Given the description of an element on the screen output the (x, y) to click on. 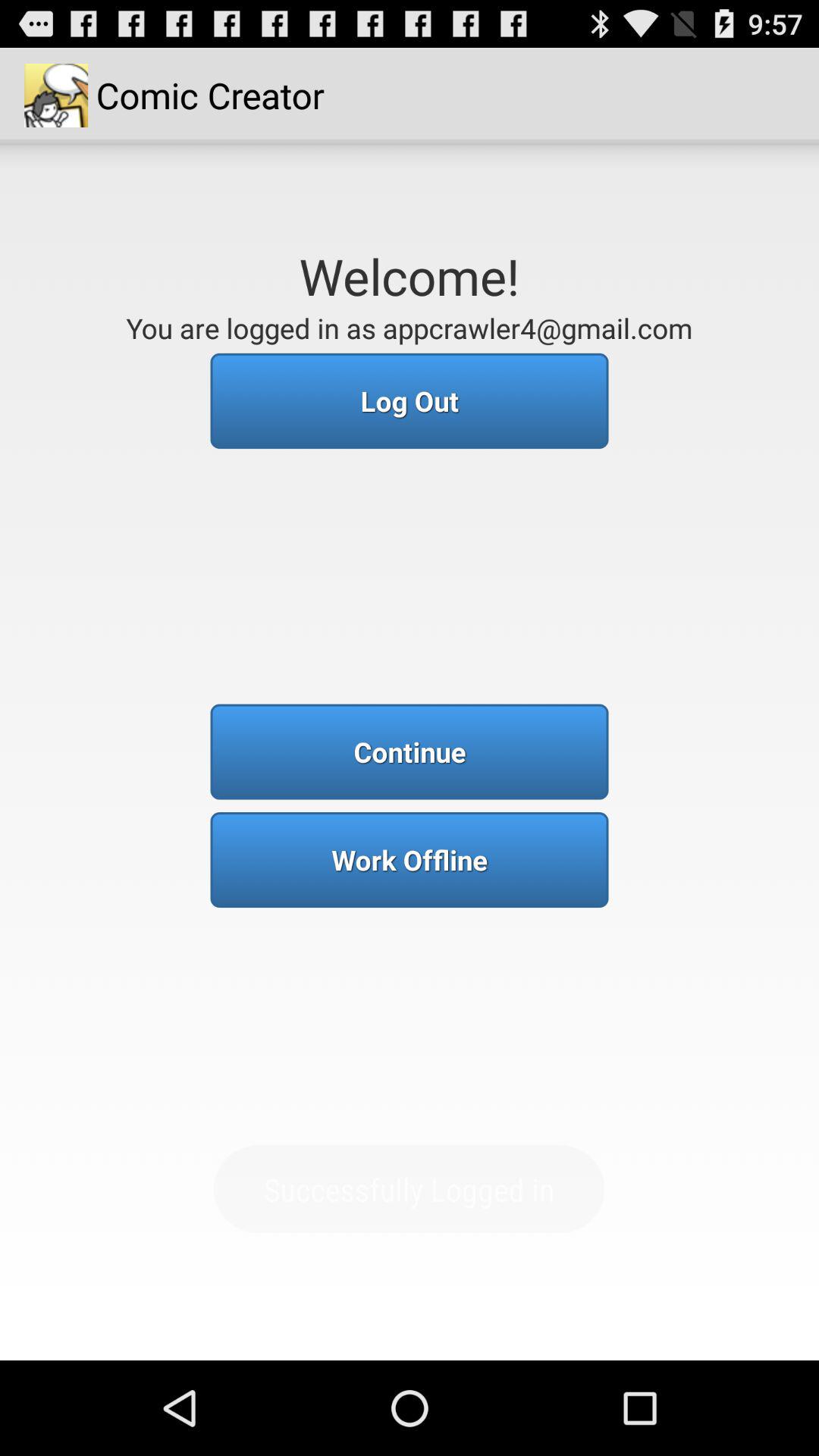
open continue icon (409, 751)
